Given the description of an element on the screen output the (x, y) to click on. 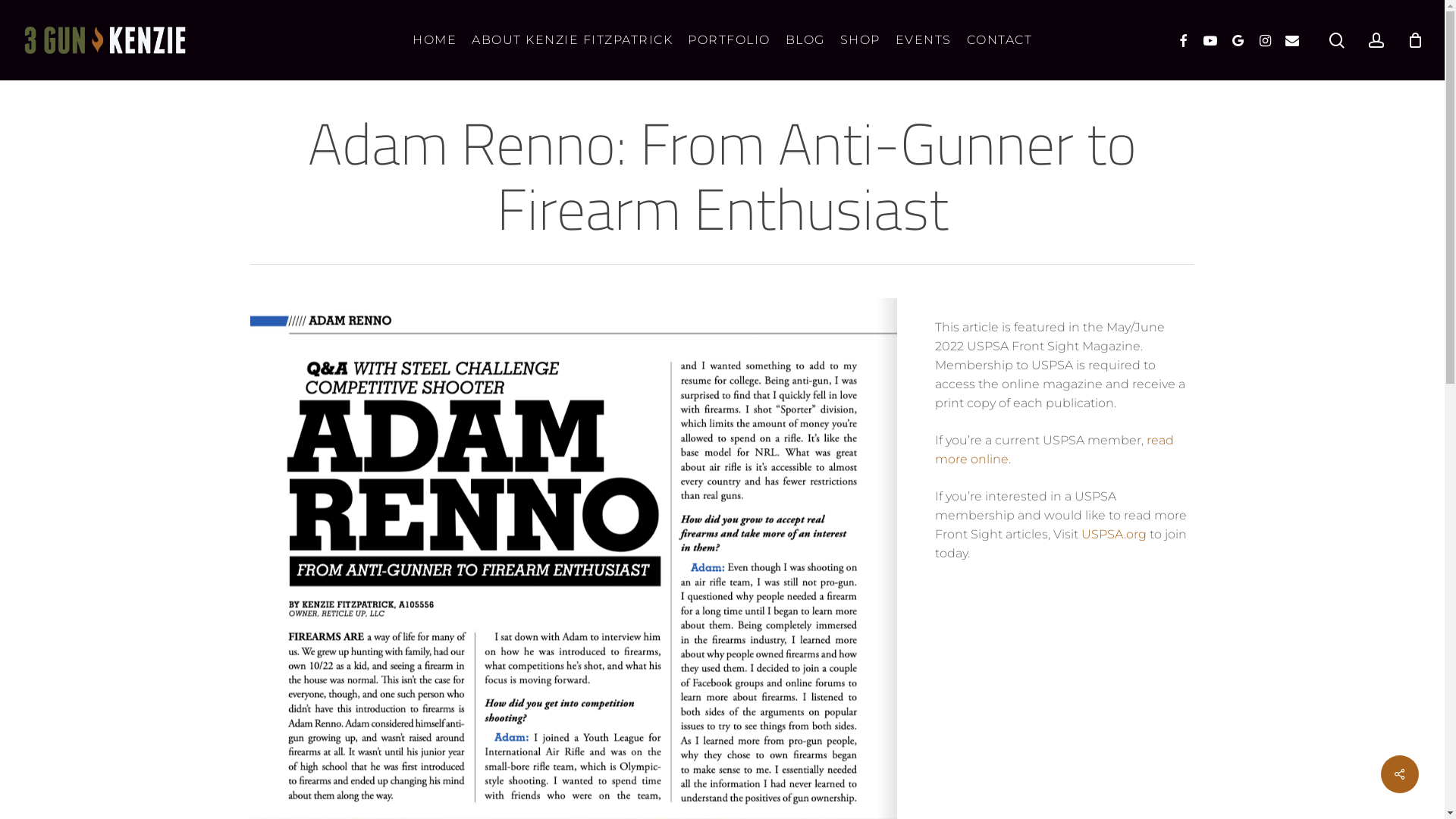
FACEBOOK Element type: text (1183, 40)
EVENTS Element type: text (922, 40)
GOOGLE-PLUS Element type: text (1238, 40)
USPSA.org Element type: text (1113, 534)
read more online Element type: text (1054, 449)
PORTFOLIO Element type: text (728, 40)
search Element type: text (1336, 39)
YOUTUBE Element type: text (1210, 40)
ABOUT KENZIE FITZPATRICK Element type: text (571, 40)
HOME Element type: text (434, 40)
EMAIL Element type: text (1292, 40)
account Element type: text (1376, 39)
SHOP Element type: text (860, 40)
INSTAGRAM Element type: text (1265, 40)
CONTACT Element type: text (999, 40)
BLOG Element type: text (805, 40)
